Given the description of an element on the screen output the (x, y) to click on. 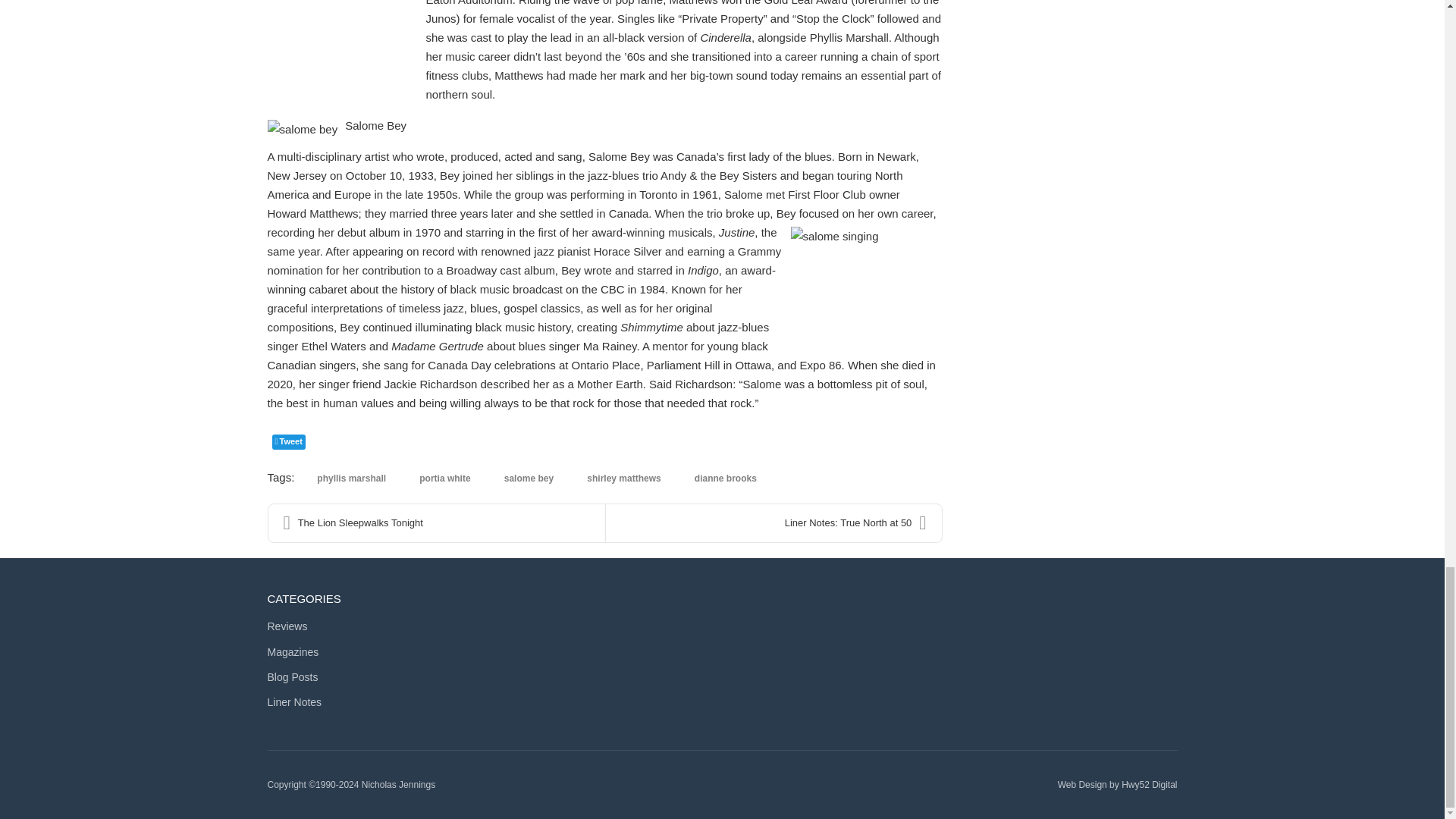
shirley matthews (623, 479)
Liner Notes: True North at 50 (772, 523)
Designed by Hwy52 Digital (1148, 784)
The Lion Sleepwalks Tonight (436, 523)
portia white (444, 479)
phyllis marshall (350, 479)
salome bey (528, 479)
Tweet (287, 441)
dianne brooks (725, 479)
